Given the description of an element on the screen output the (x, y) to click on. 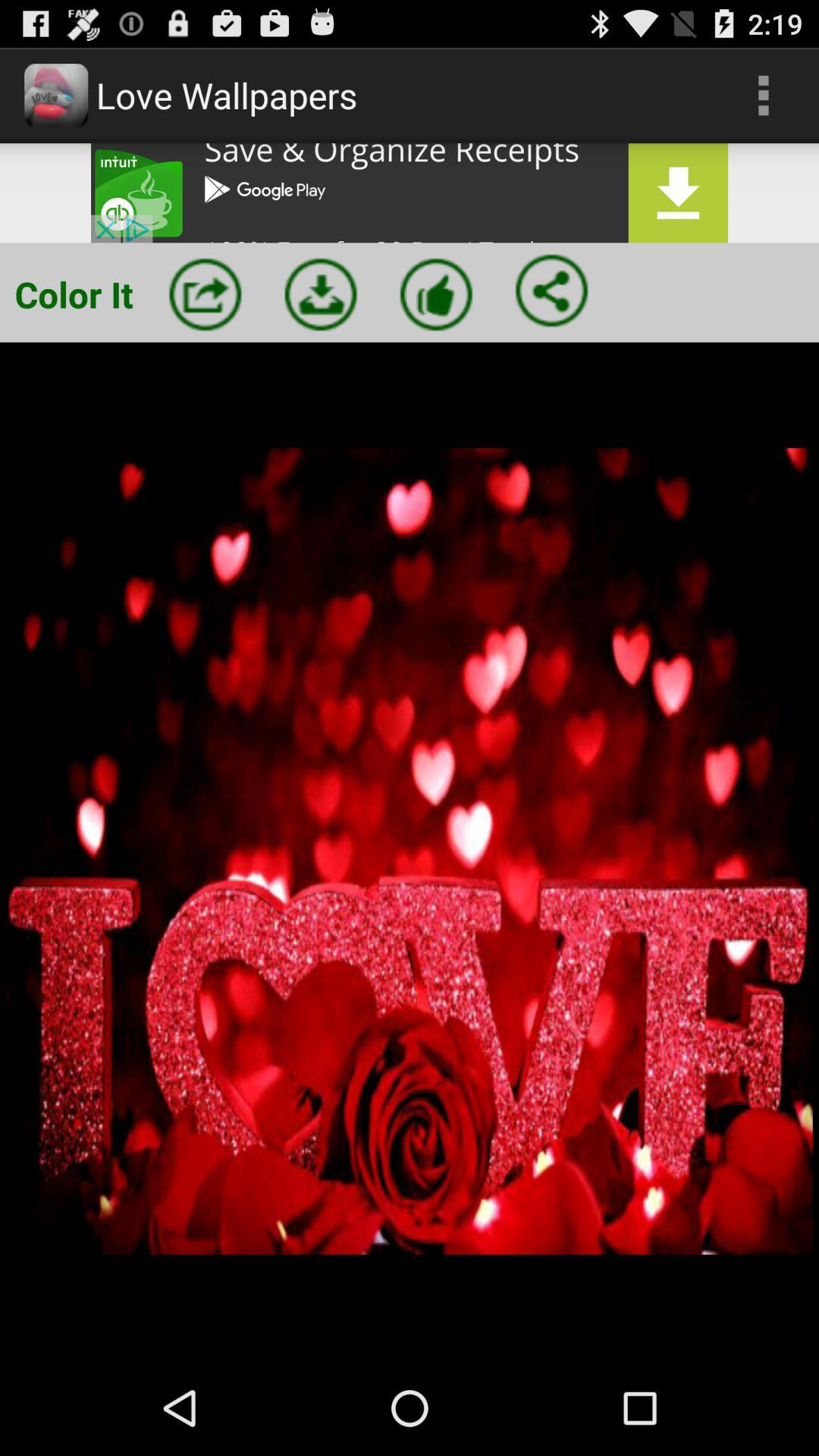
banner advertisement (409, 192)
